Given the description of an element on the screen output the (x, y) to click on. 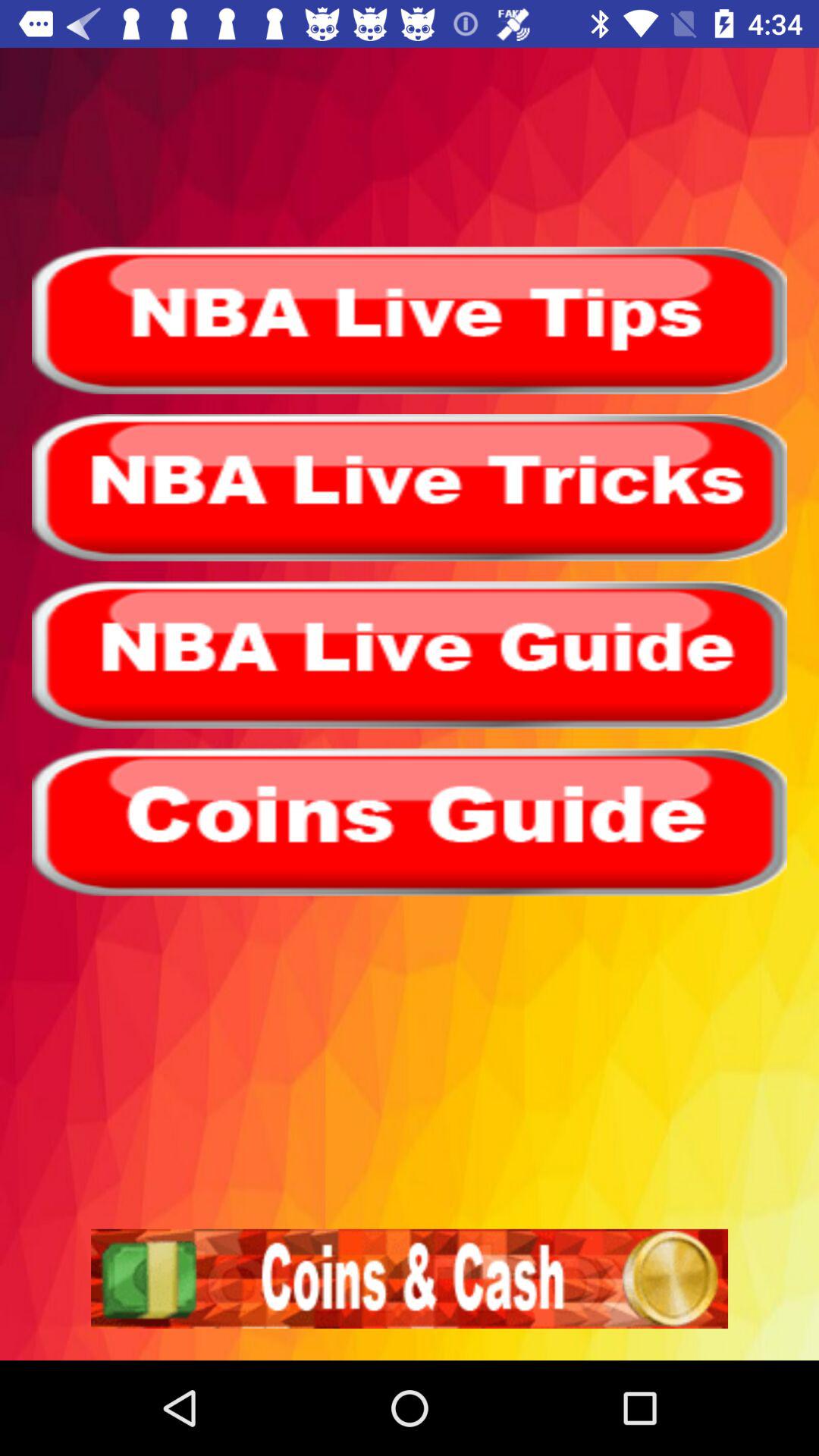
select the option (409, 821)
